Given the description of an element on the screen output the (x, y) to click on. 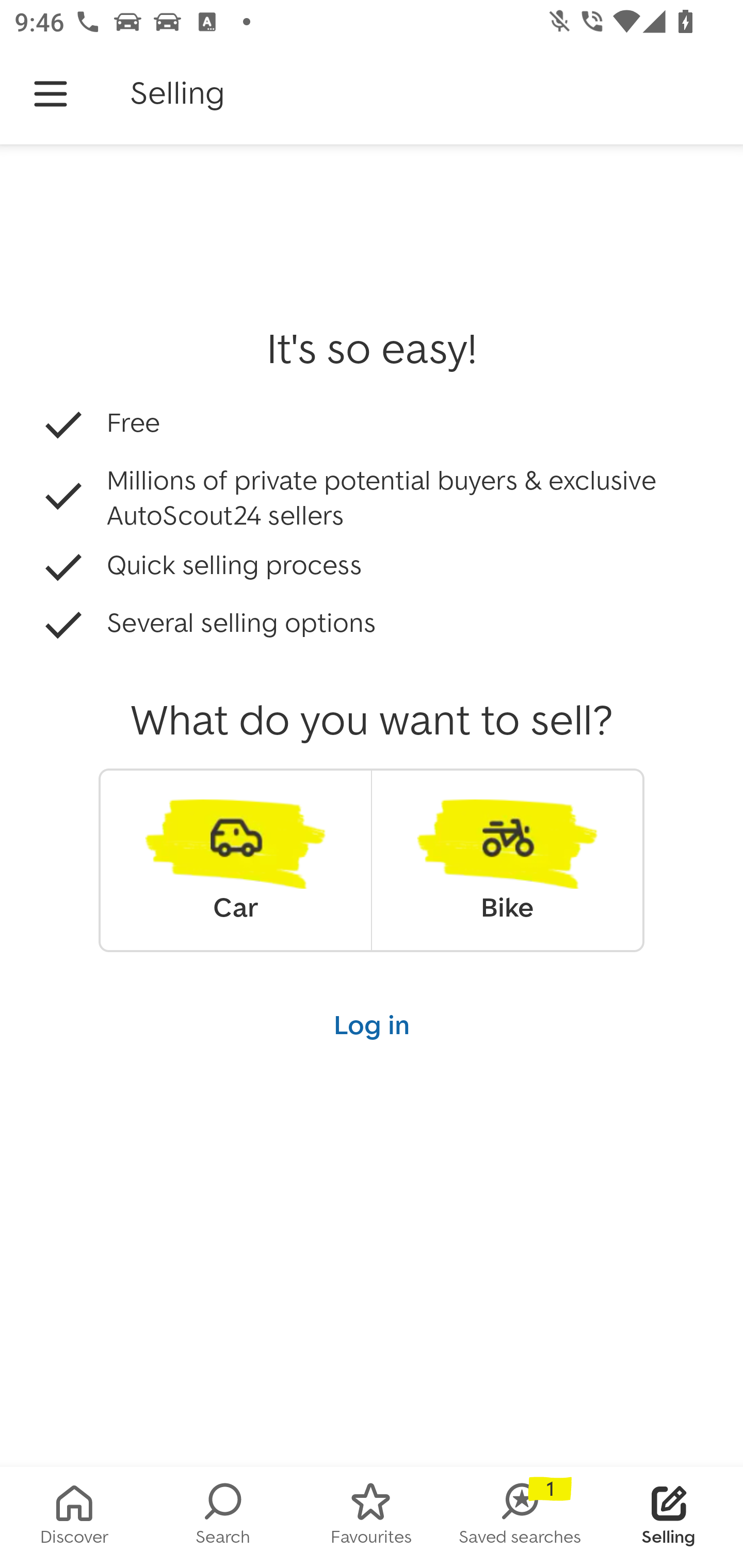
Navigate up (50, 93)
Car (235, 859)
Bike (507, 859)
Log in (371, 1024)
HOMESCREEN Discover (74, 1517)
SEARCH Search (222, 1517)
FAVORITES Favourites (371, 1517)
SAVED_SEARCHES Saved searches 1 (519, 1517)
STOCK_LIST Selling (668, 1517)
